Given the description of an element on the screen output the (x, y) to click on. 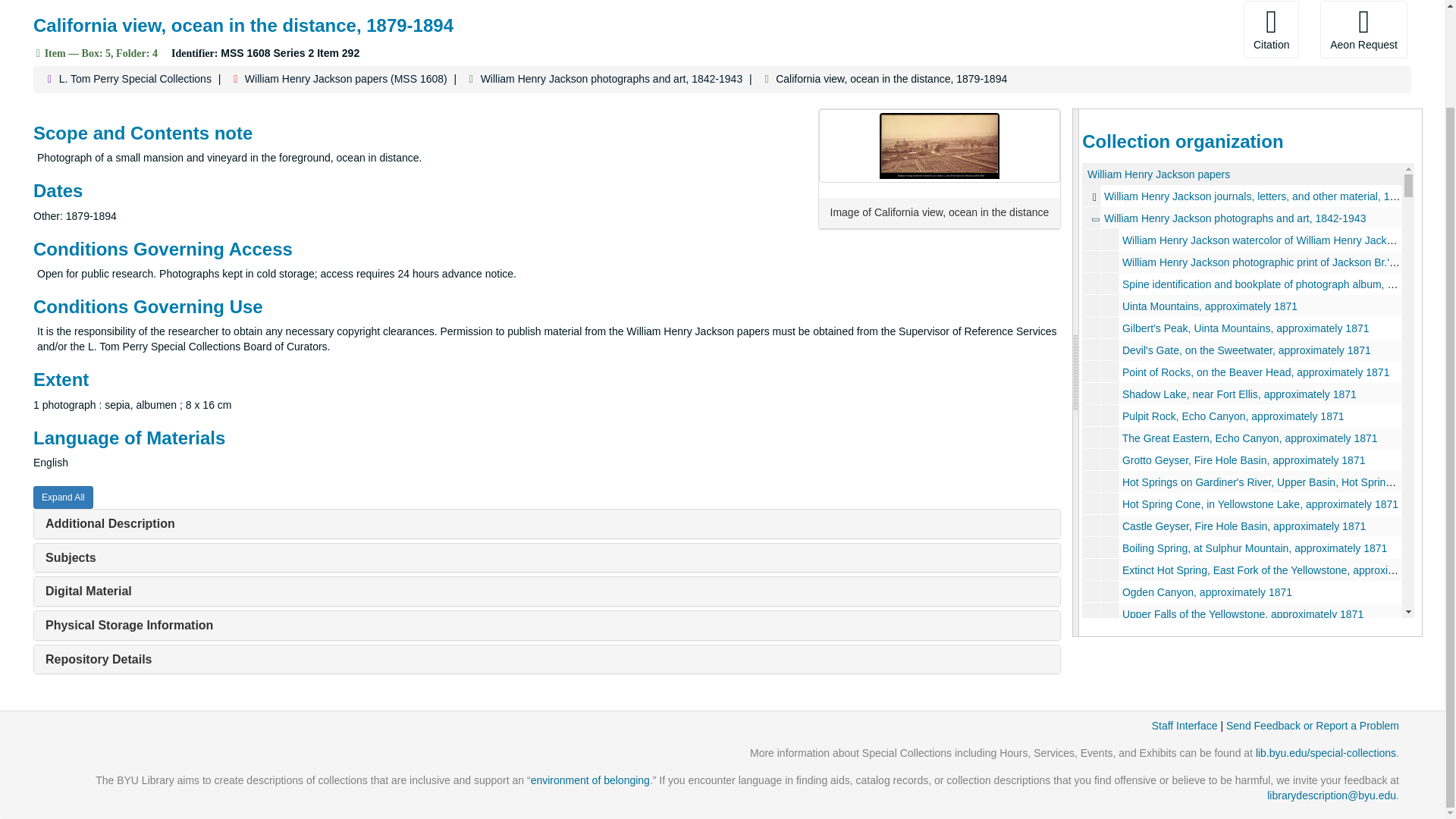
Page Actions (1130, 29)
William Henry Jackson papers (1158, 174)
Point of Rocks, on the Beaver Head (1242, 372)
Physical Storage Information (128, 625)
William Henry Jackson photographs and art, 1842-1943 (611, 78)
Aeon Request (1363, 29)
William Henry Jackson journals, letters, and other material (1242, 196)
Spine identification and bookplate of photograph album (1242, 283)
Devil's Gate, on the Sweetwater (1242, 350)
